Given the description of an element on the screen output the (x, y) to click on. 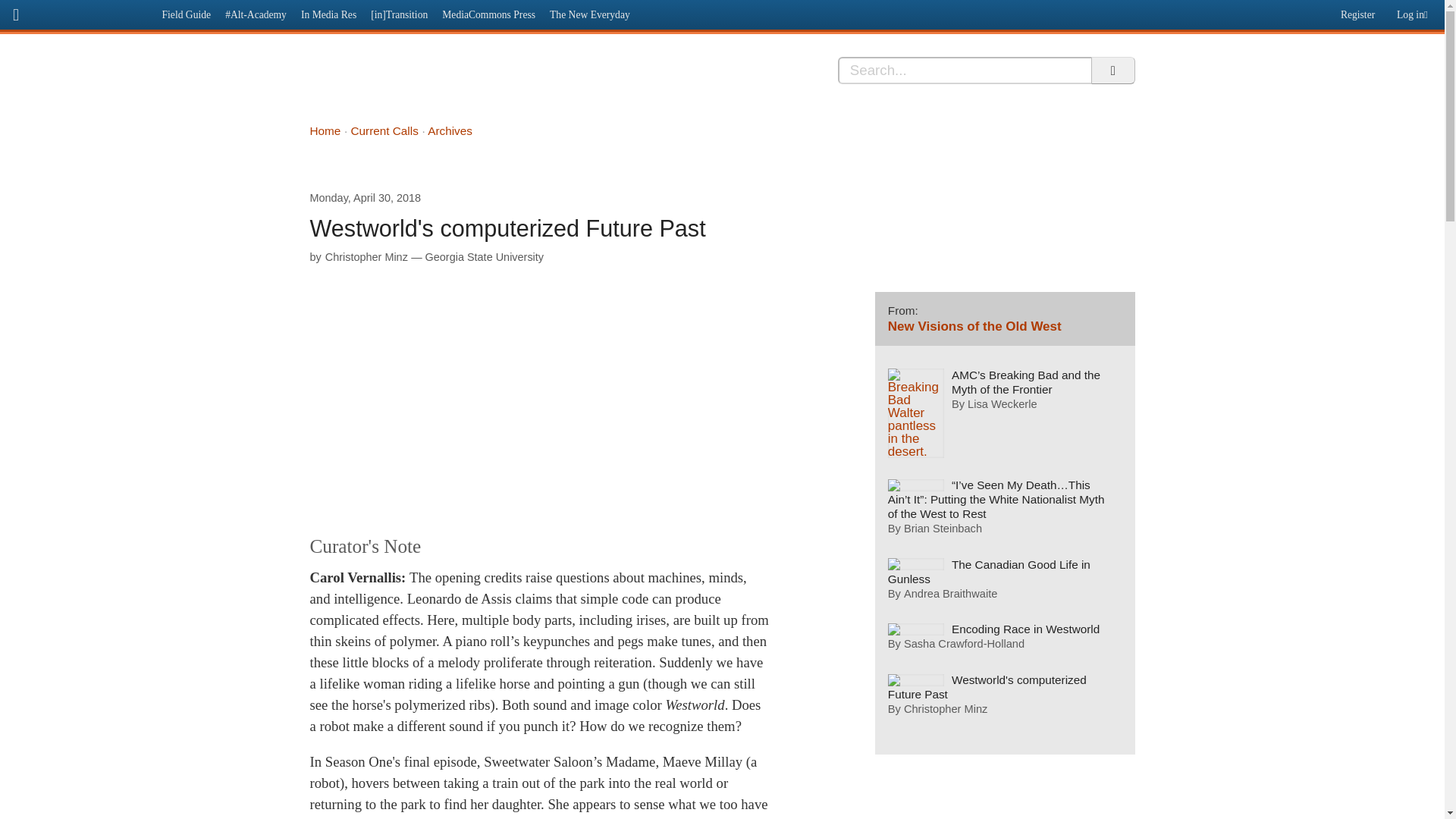
Register (1355, 11)
Log in (1414, 11)
Christopher Minz (365, 256)
Archives (449, 130)
Front page (77, 11)
Georgia State University (484, 256)
Field Guide (186, 14)
Enter the terms you wish to search for. (965, 70)
MediaCommons Press (489, 14)
In Media Res (328, 14)
